Given the description of an element on the screen output the (x, y) to click on. 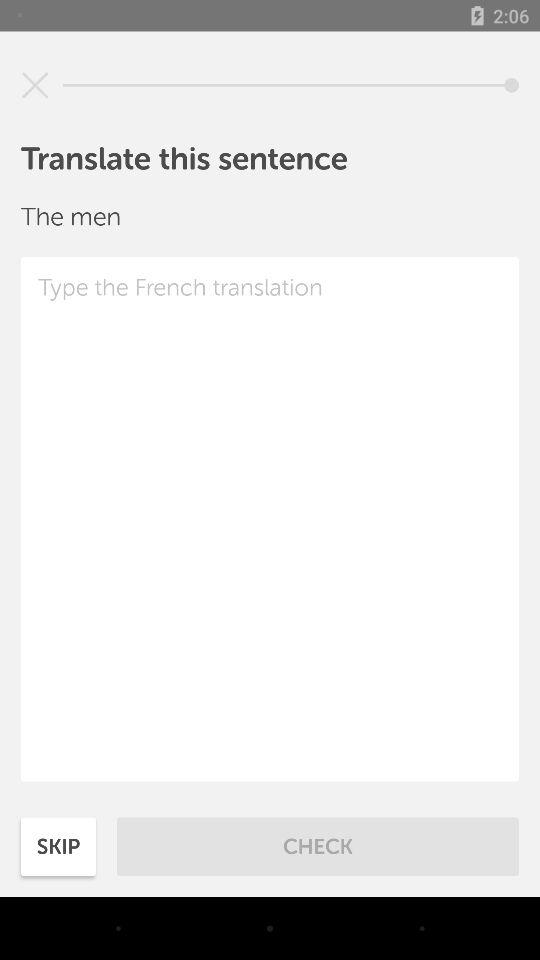
press the icon next to check item (58, 846)
